Given the description of an element on the screen output the (x, y) to click on. 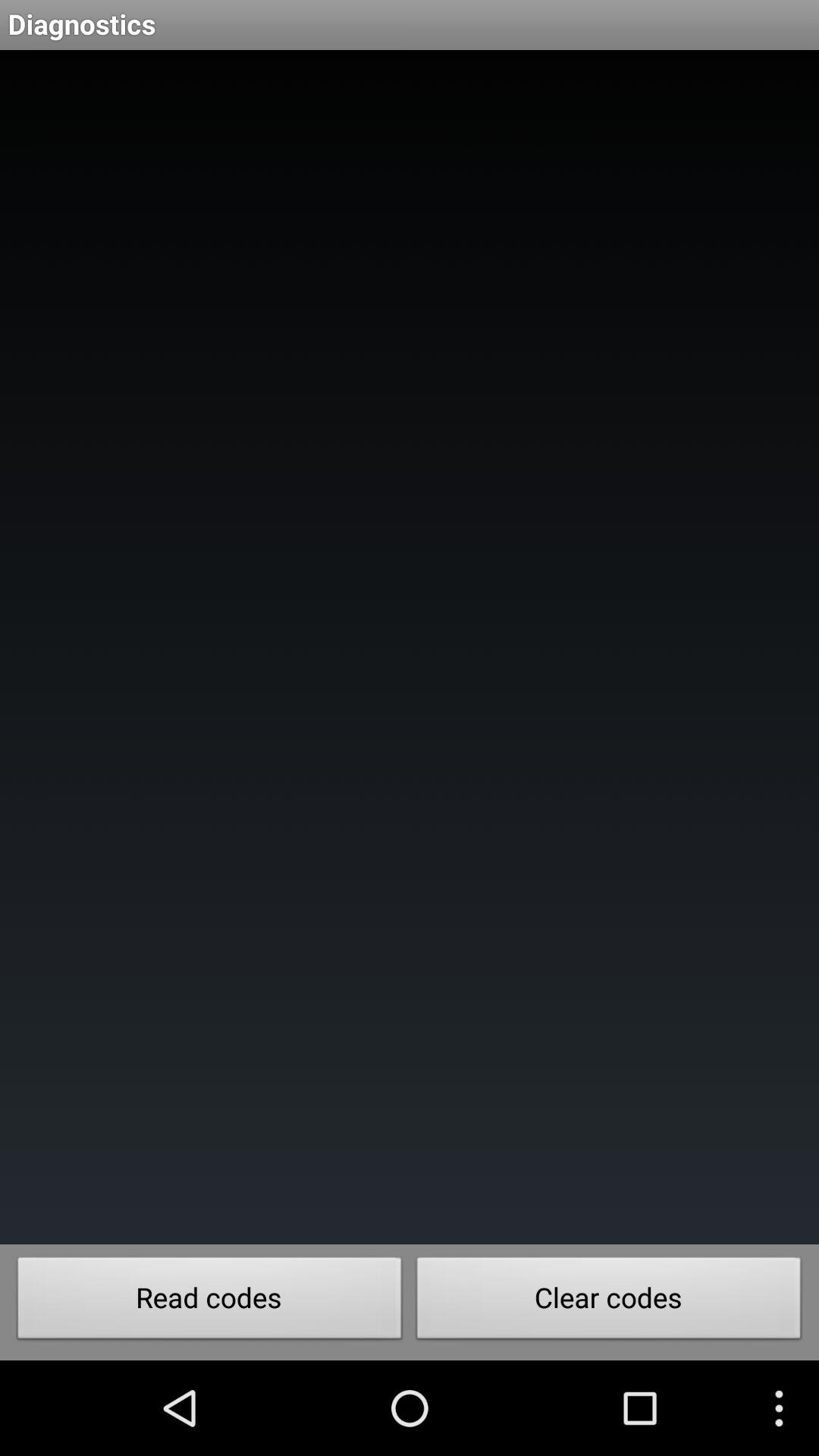
select the button to the left of the clear codes button (209, 1302)
